Given the description of an element on the screen output the (x, y) to click on. 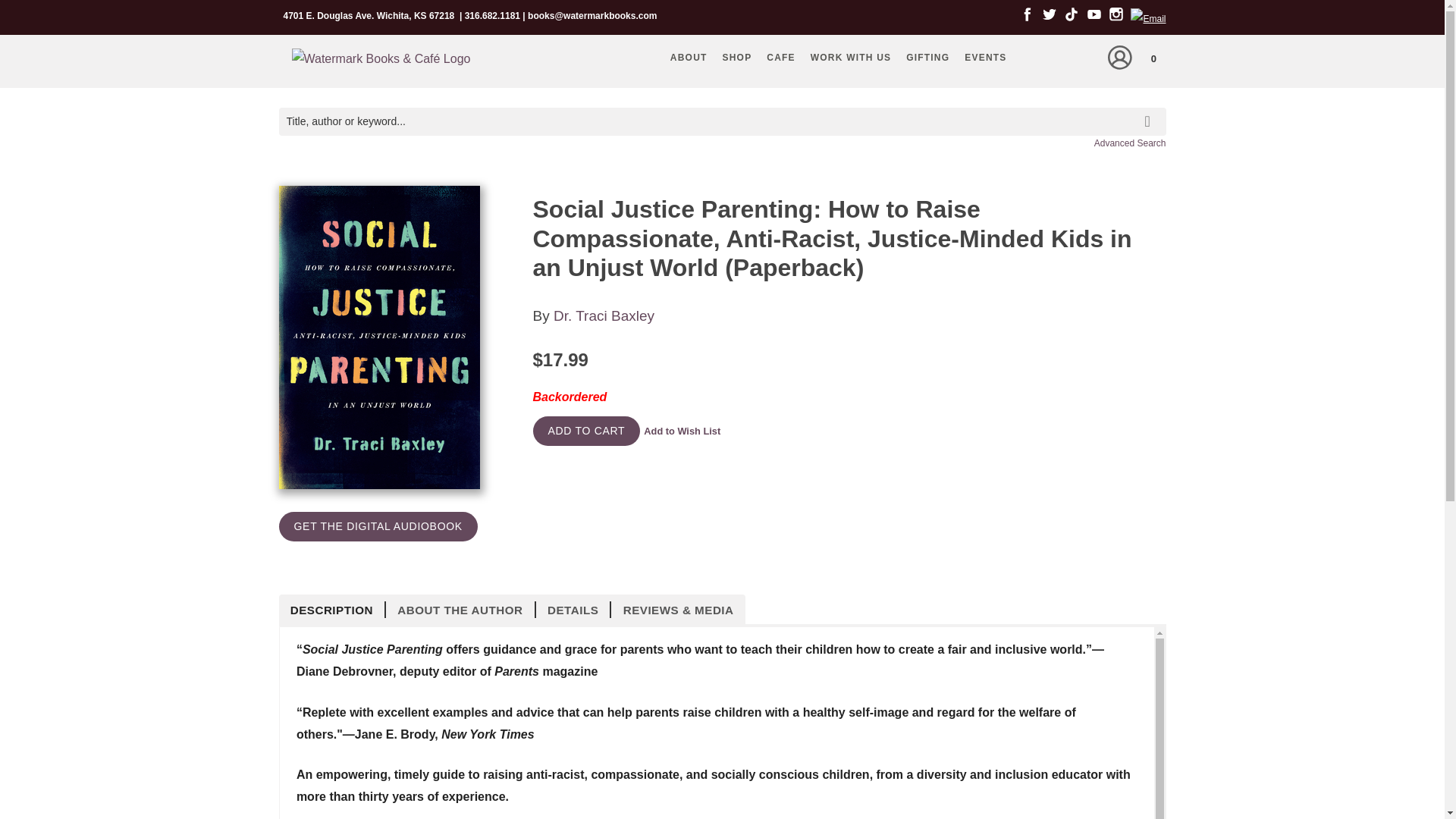
ABOUT (688, 56)
Title, author or keyword... (722, 121)
search (1150, 109)
Home (381, 62)
Add to Cart (586, 430)
Get the Digital Audiobook (378, 526)
CAFE (780, 56)
SHOP (737, 56)
